Given the description of an element on the screen output the (x, y) to click on. 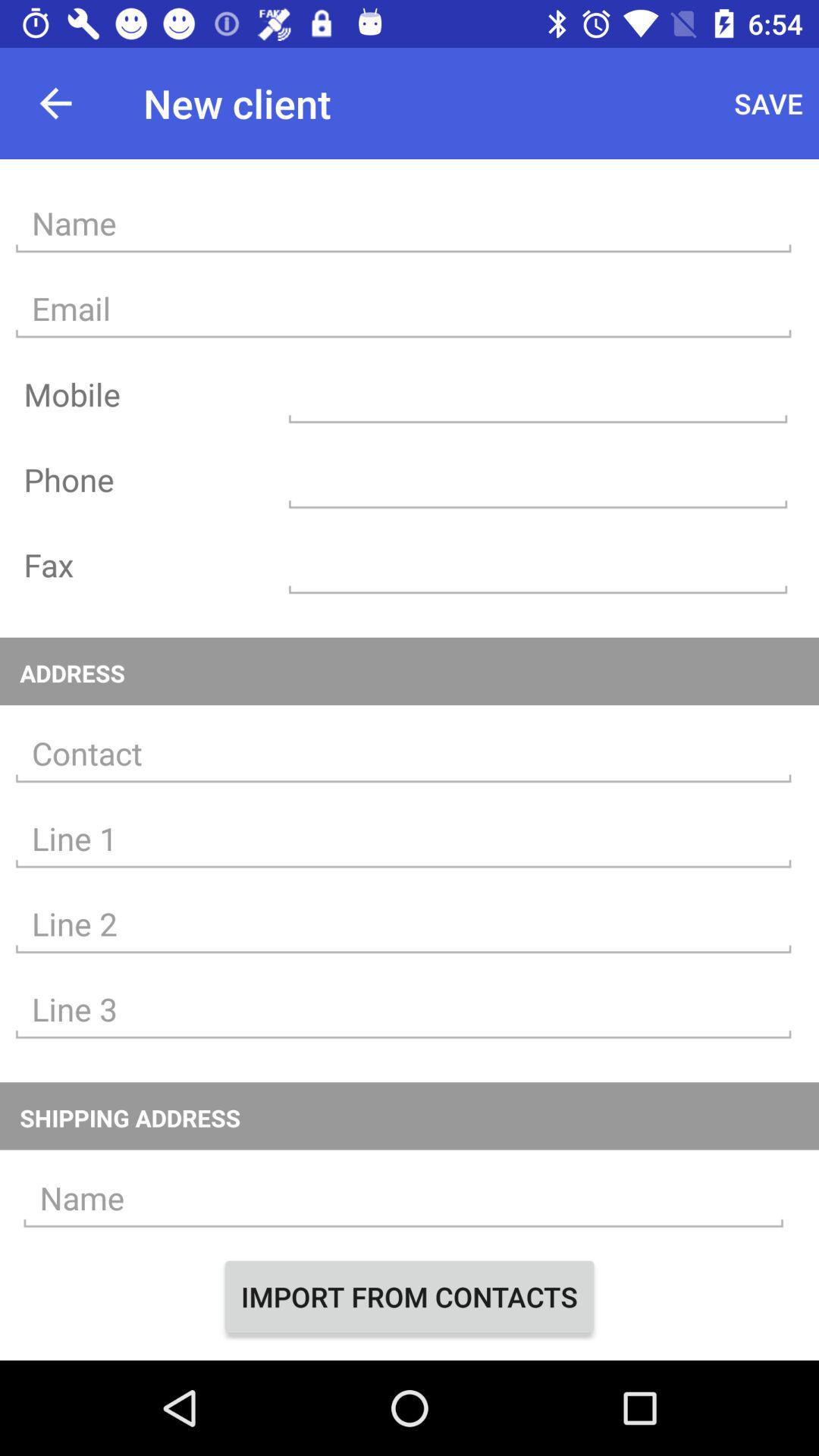
type contact information (403, 838)
